Given the description of an element on the screen output the (x, y) to click on. 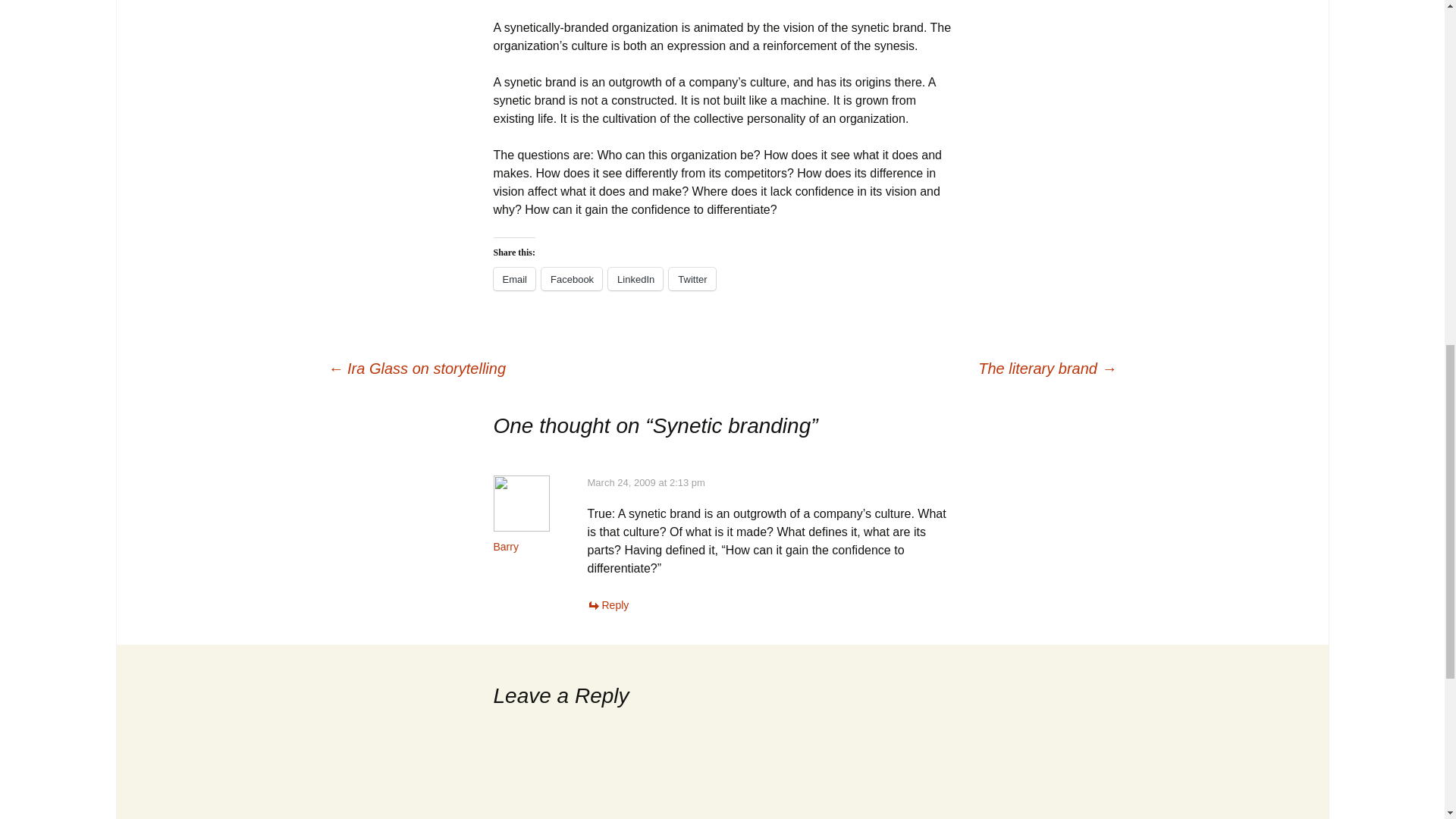
Facebook (571, 278)
Comment Form (721, 771)
Click to share on LinkedIn (635, 278)
Email (514, 278)
Click to email a link to a friend (514, 278)
Click to share on Twitter (691, 278)
LinkedIn (635, 278)
Twitter (691, 278)
Reply (607, 604)
March 24, 2009 at 2:13 pm (645, 482)
Click to share on Facebook (571, 278)
